Given the description of an element on the screen output the (x, y) to click on. 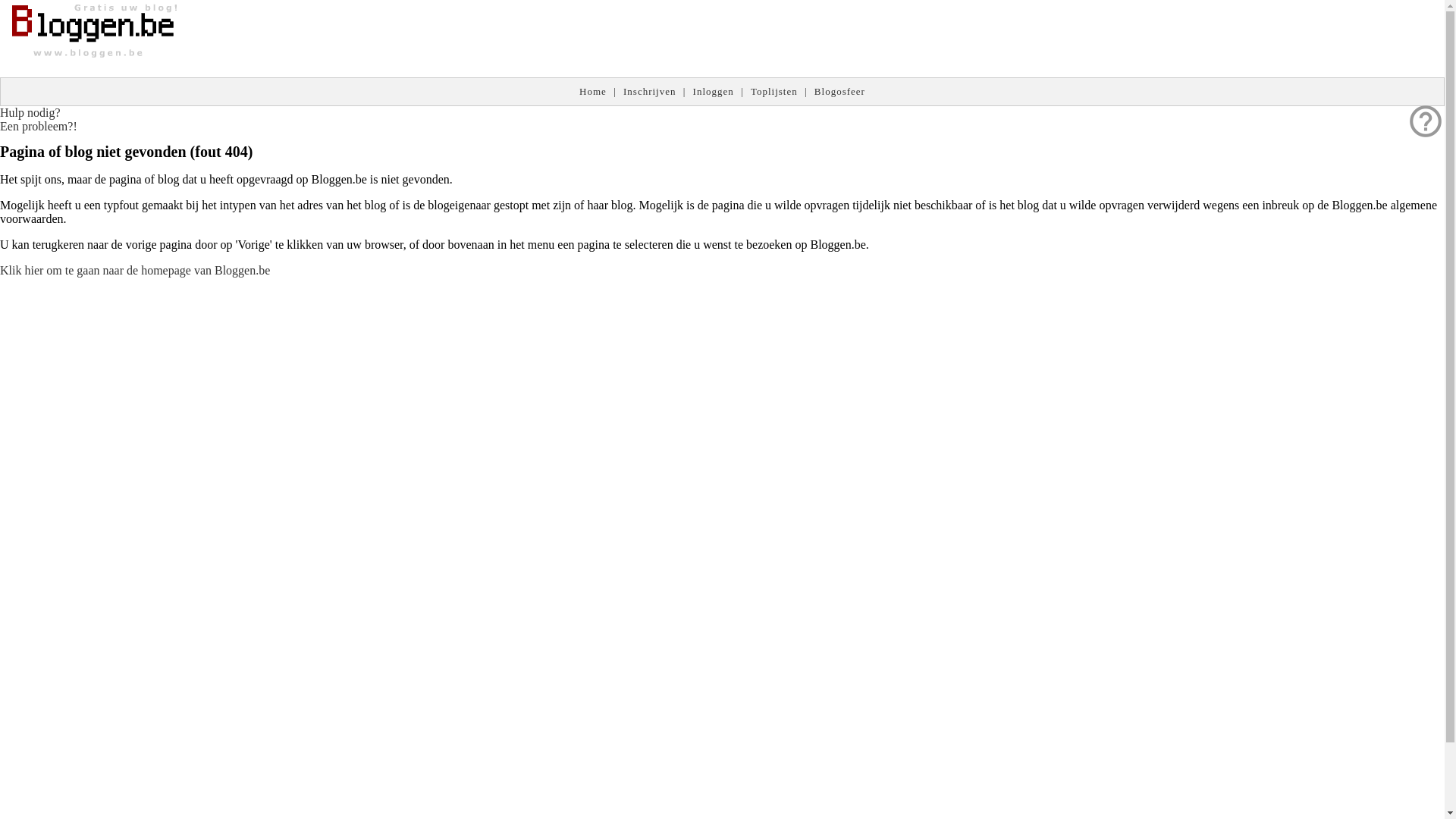
Inloggen Element type: text (713, 91)
Blogosfeer Element type: text (839, 91)
Toplijsten Element type: text (773, 91)
Klik hier om te gaan naar de homepage van Bloggen.be Element type: text (134, 269)
Home Element type: text (592, 91)
help_outline
Hulp nodig?
Een probleem?! Element type: text (38, 119)
Inschrijven Element type: text (649, 91)
